Given the description of an element on the screen output the (x, y) to click on. 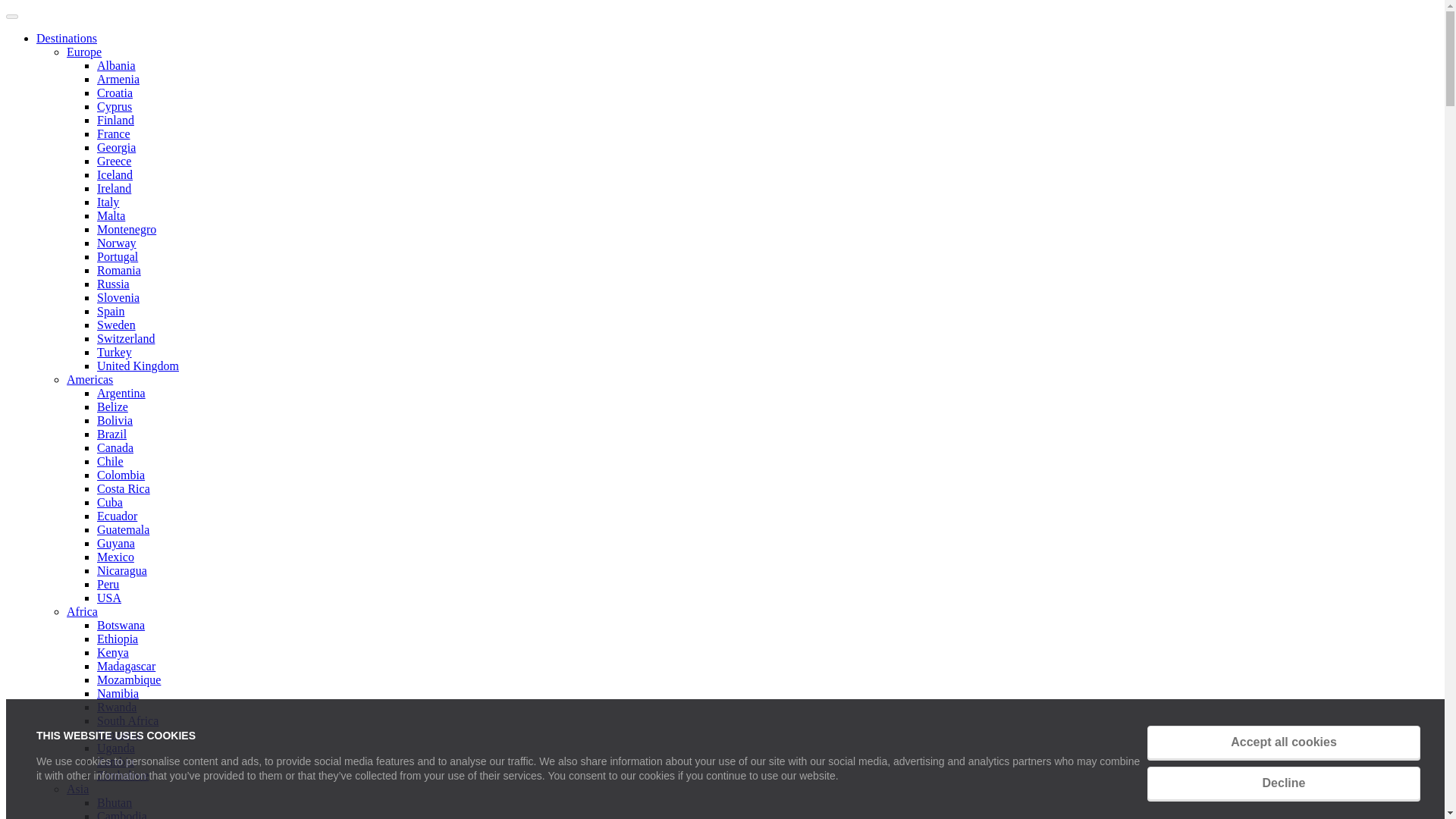
Italy (108, 201)
Europe (83, 51)
United Kingdom (138, 365)
Ecuador (116, 515)
Slovenia (118, 297)
Bolivia (114, 420)
Slovenia holidays (118, 297)
Albania holidays (116, 65)
Armenia (118, 78)
Portugal holidays (117, 256)
